Given the description of an element on the screen output the (x, y) to click on. 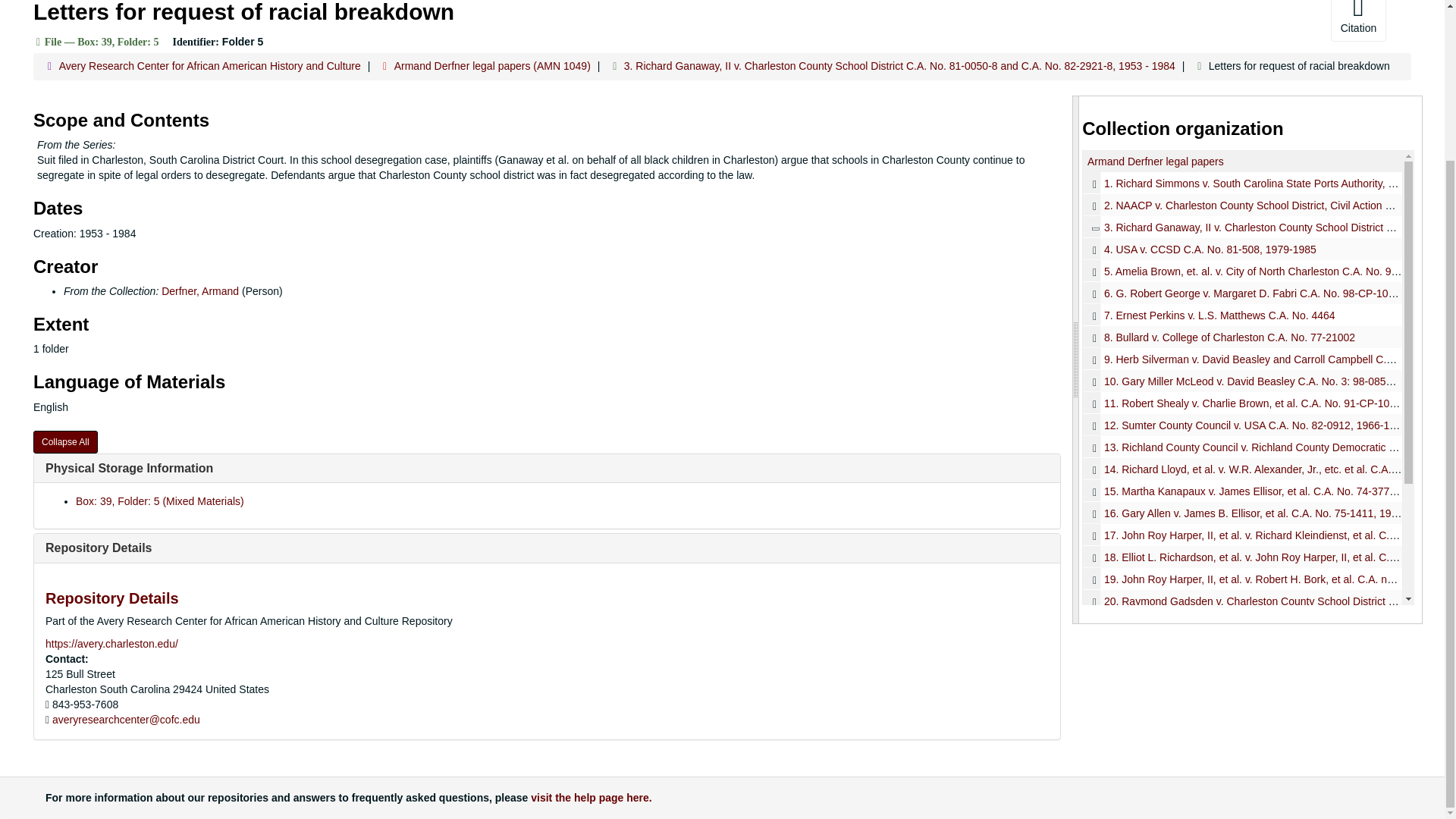
4. USA v. CCSD C.A. No. 81-508 (1242, 249)
Repository Details (98, 547)
Citation (1358, 20)
4. USA v. CCSD C.A. No. 81-508, 1979-1985 (1209, 249)
Armand Derfner legal papers (1155, 161)
7. Ernest Perkins v. L.S. Matthews C.A. No. 4464 (1242, 314)
